Given the description of an element on the screen output the (x, y) to click on. 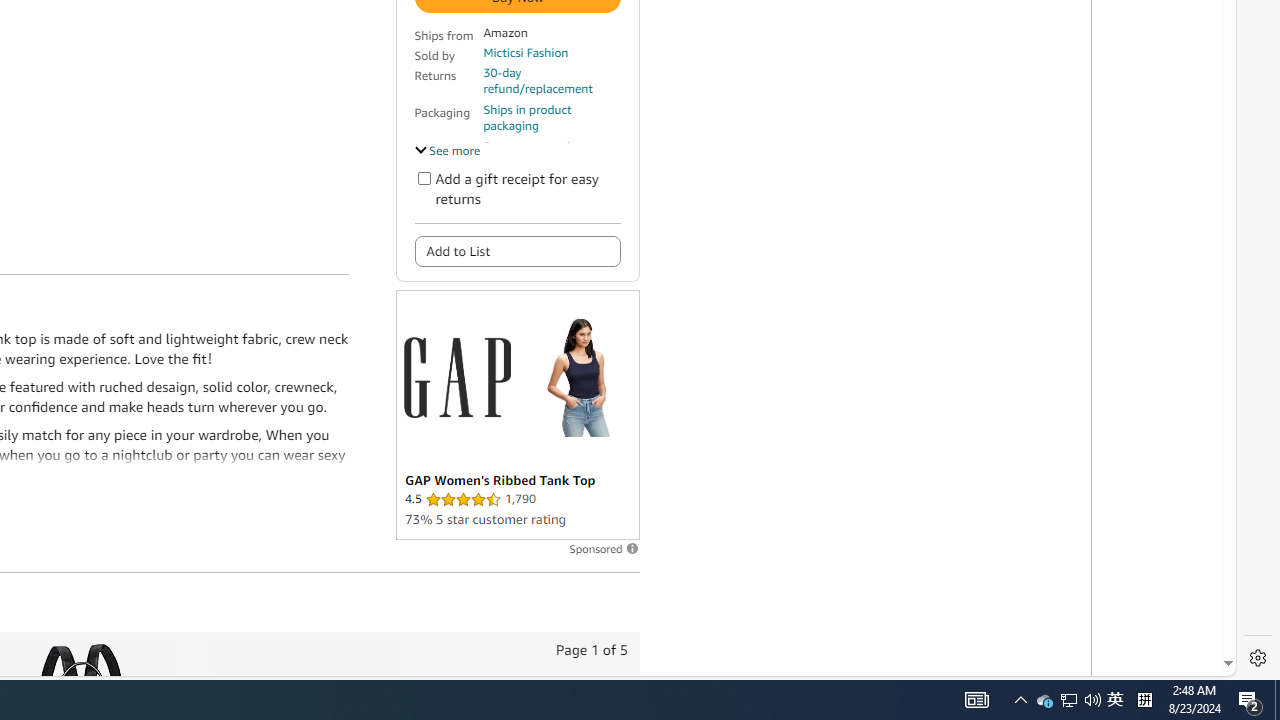
30-day refund/replacement (551, 80)
Add to List (516, 250)
Secure transaction (533, 146)
Micticsi Fashion (525, 51)
Add a gift receipt for easy returns (424, 178)
GAP Women's Ribbed Tank Top (577, 377)
Sponsored ad (516, 414)
Logo (456, 376)
Ships in product packaging (551, 117)
